Given the description of an element on the screen output the (x, y) to click on. 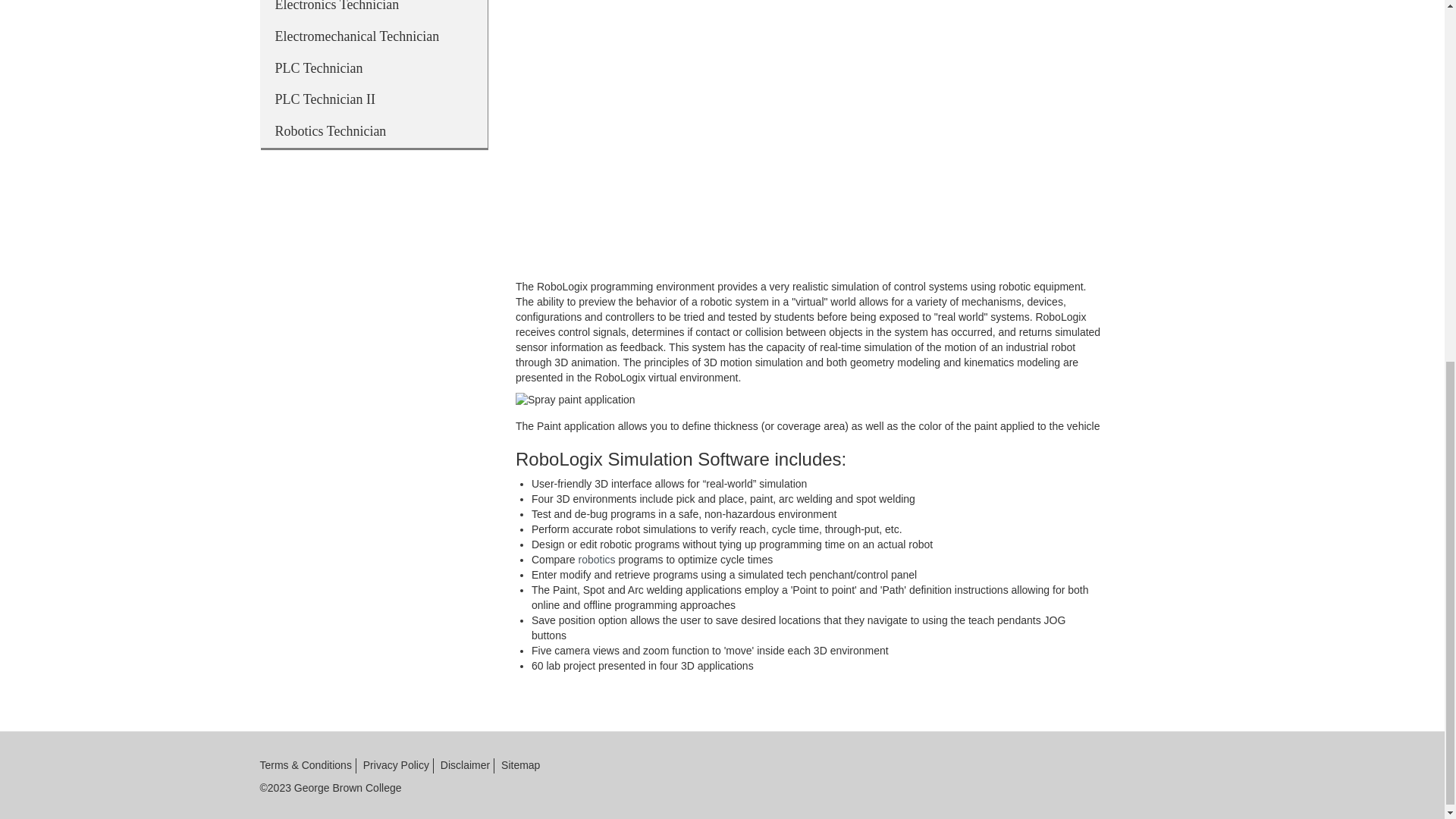
Electronics Technician (372, 10)
